Given the description of an element on the screen output the (x, y) to click on. 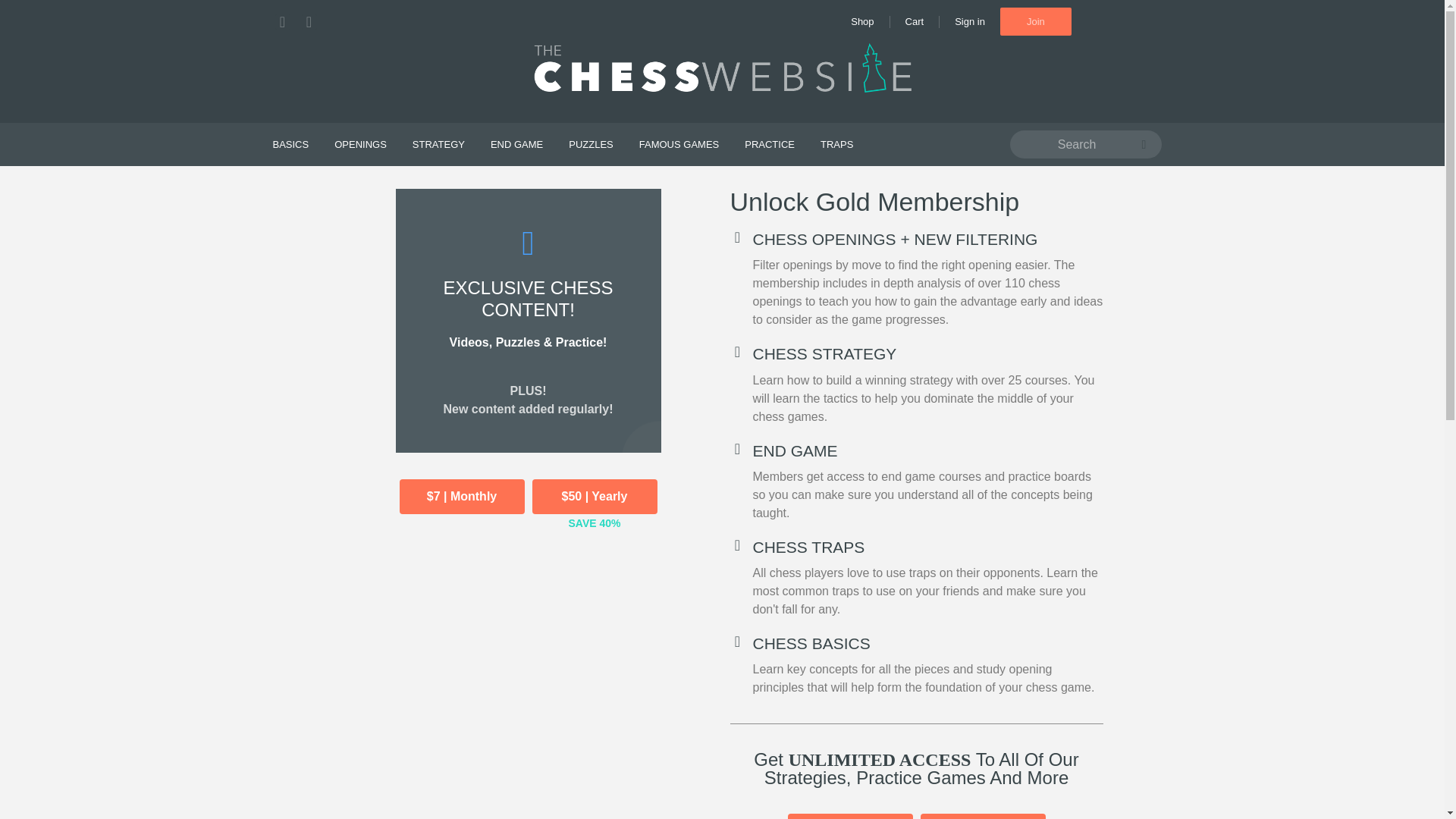
chess puzzles (591, 144)
BASICS (290, 144)
PUZZLES (591, 144)
PRACTICE (770, 144)
STRATEGY (437, 144)
chess basics (290, 144)
FAMOUS GAMES (679, 144)
chess end game (516, 144)
Join (1035, 21)
chess practice (770, 144)
Cart (914, 21)
chess strategy (437, 144)
END GAME (516, 144)
OPENINGS (359, 144)
famous chess games (679, 144)
